Given the description of an element on the screen output the (x, y) to click on. 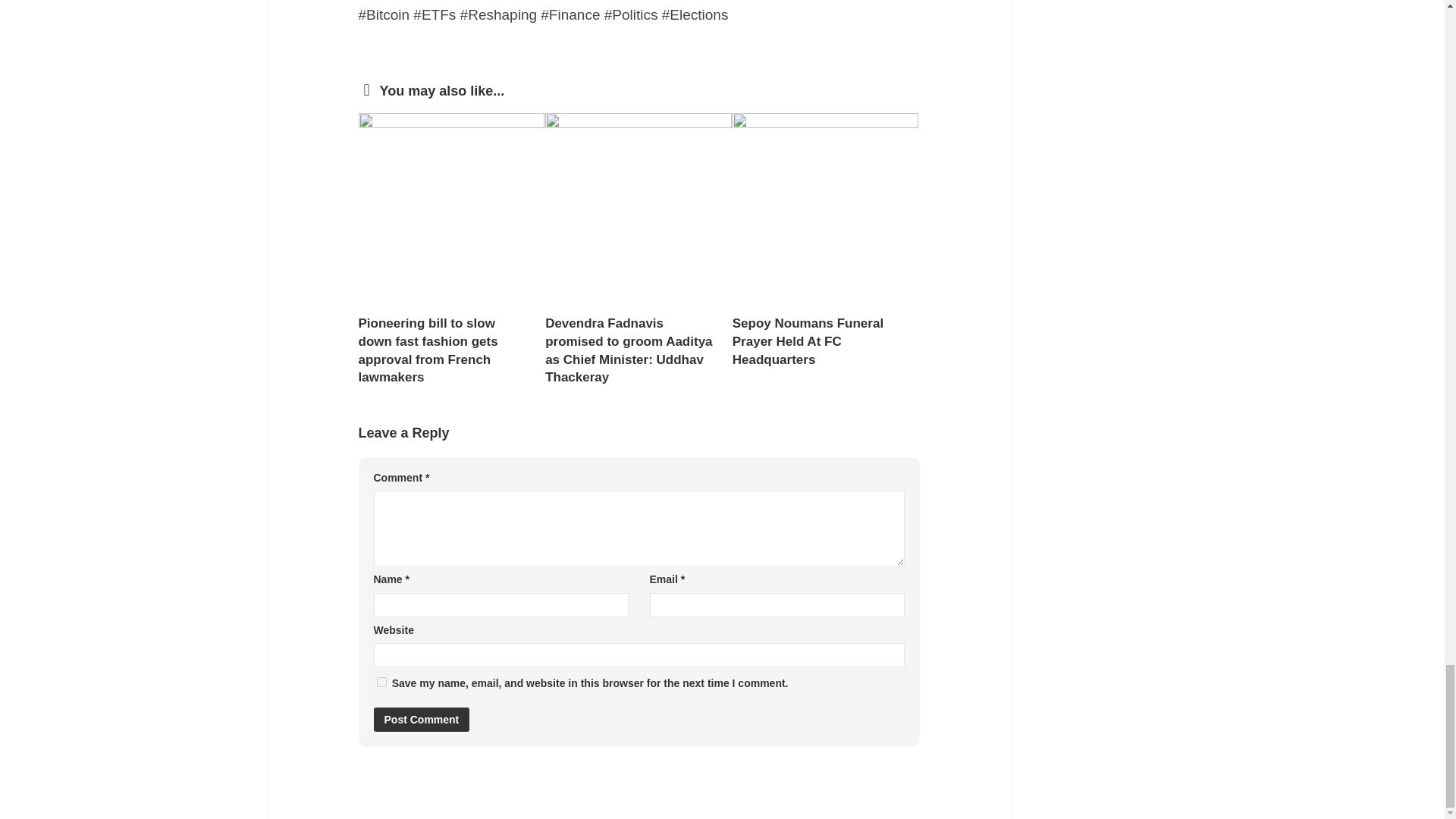
Post Comment (420, 719)
yes (380, 682)
Sepoy Noumans Funeral Prayer Held At FC Headquarters (807, 341)
Post Comment (420, 719)
